Given the description of an element on the screen output the (x, y) to click on. 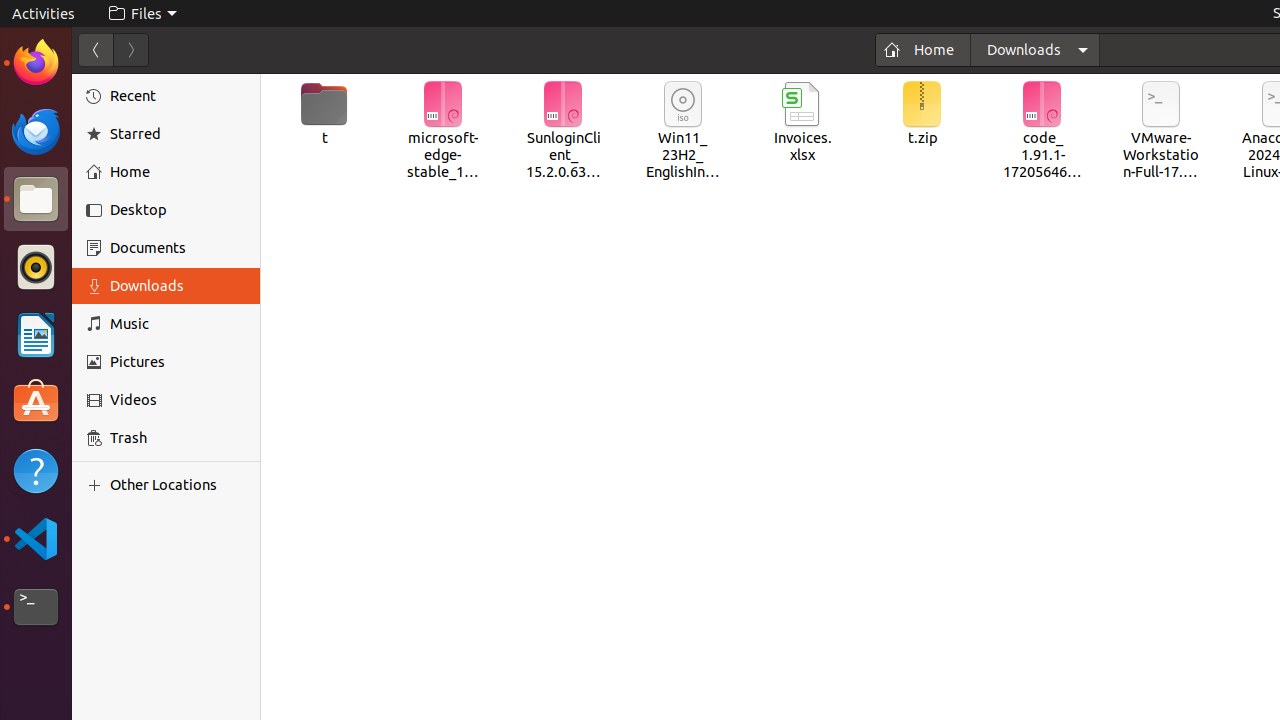
IsaHelpMain.desktop Element type: label (133, 300)
Videos Element type: label (178, 400)
Pictures Element type: label (178, 362)
VMware-Workstation-Full-17.5.2-23775571.x86_64.bundle Element type: canvas (1161, 131)
Home Element type: label (178, 172)
